Given the description of an element on the screen output the (x, y) to click on. 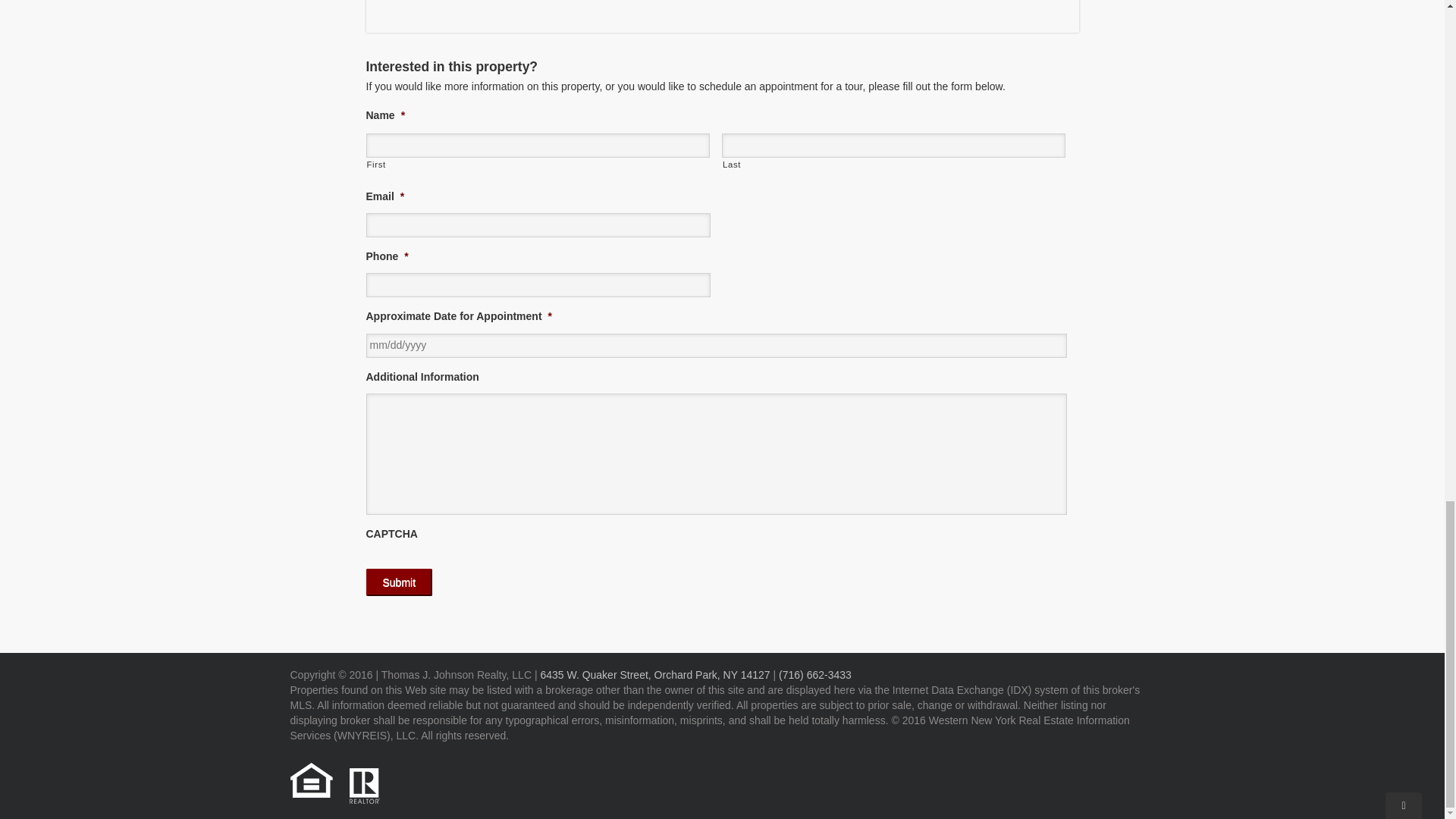
Submit (398, 582)
Submit (398, 582)
